Given the description of an element on the screen output the (x, y) to click on. 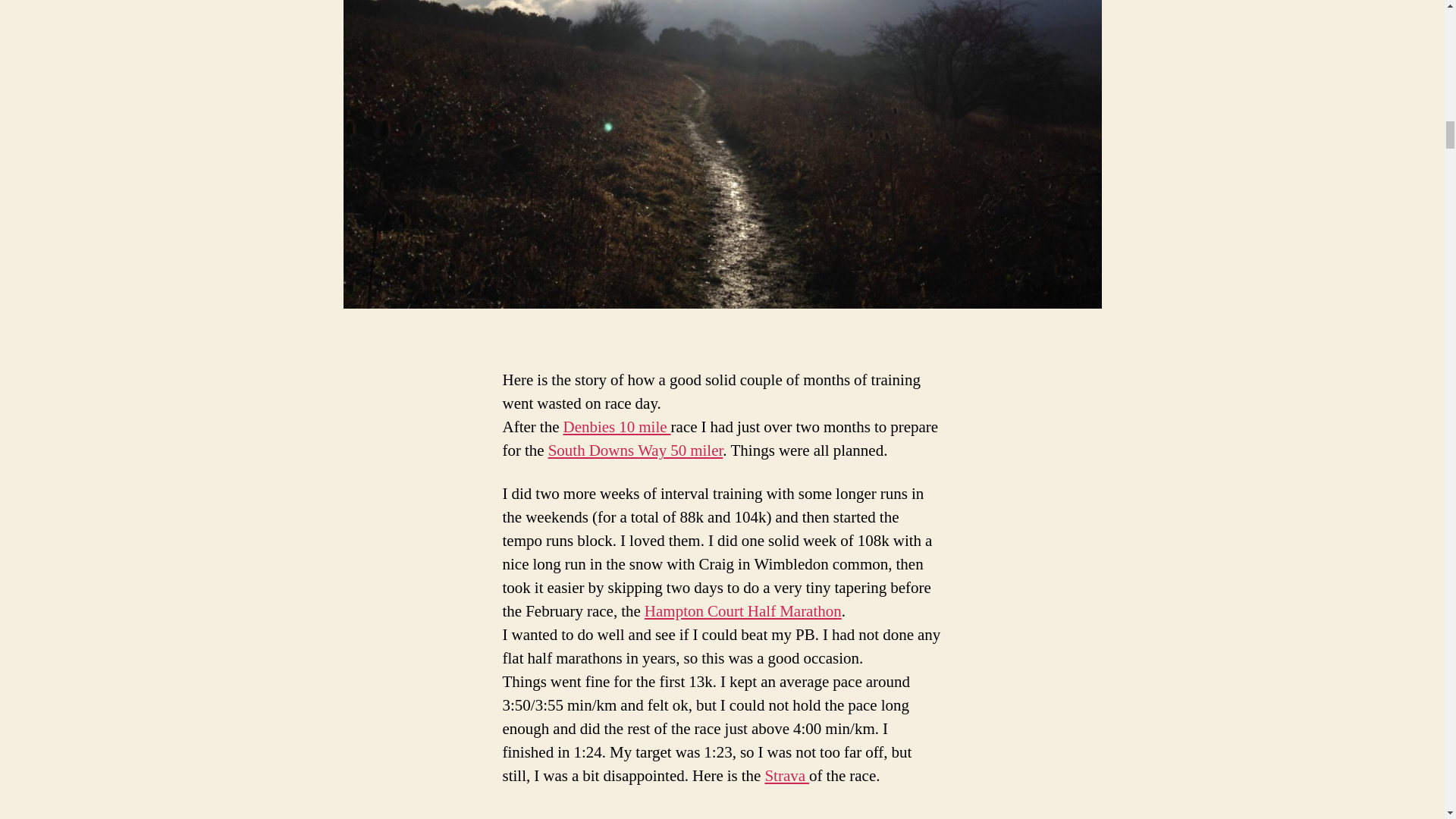
Denbies 10 mile (615, 426)
Strava (786, 775)
Hampton Court Half Marathon (743, 611)
South Downs Way 50 miler (635, 450)
